Given the description of an element on the screen output the (x, y) to click on. 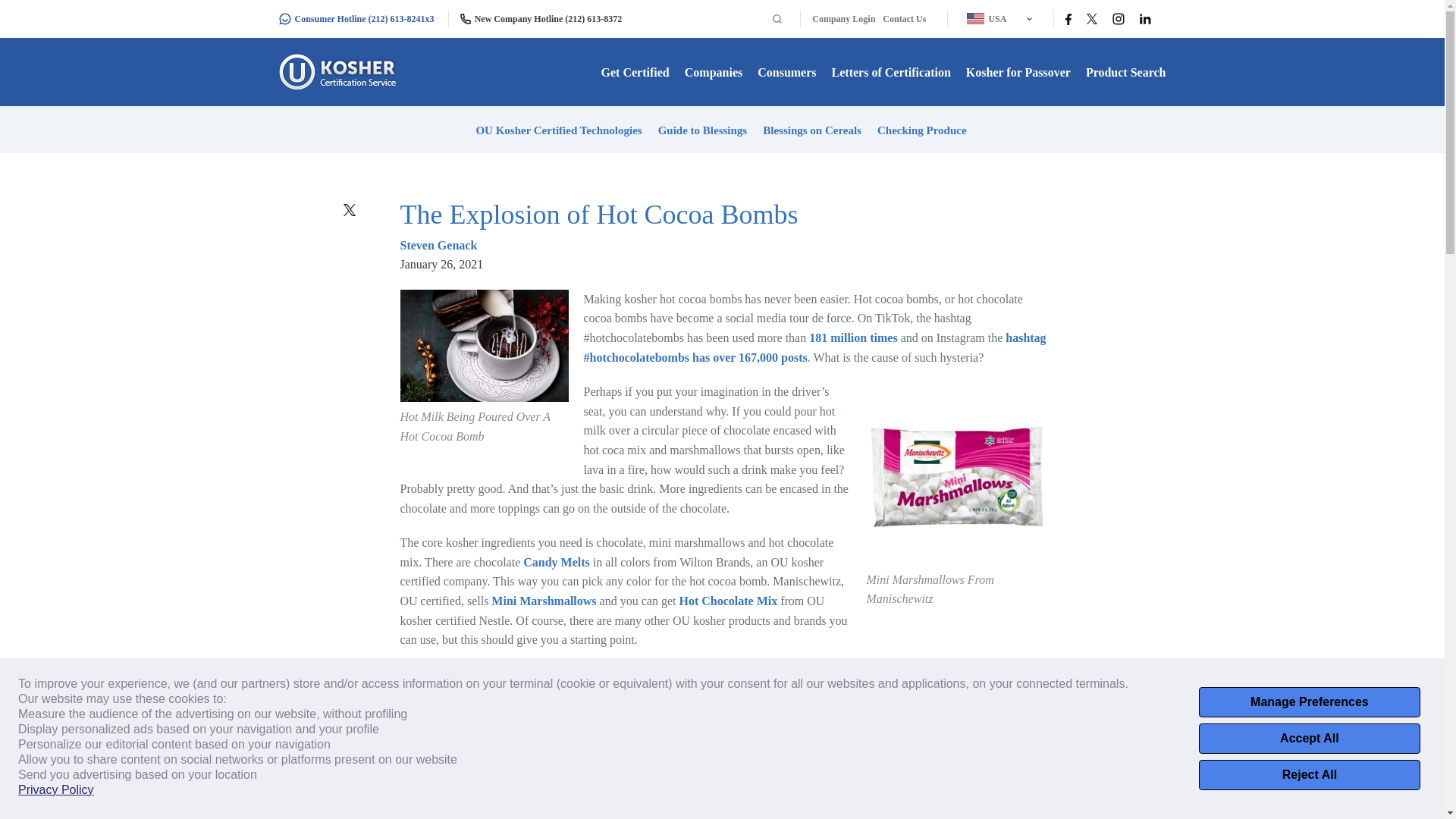
Manage Preferences (1309, 702)
OU Kosher Certification (339, 71)
Company Login (843, 19)
USA (994, 18)
Contact Us (904, 19)
Posts by Steven Genack (438, 245)
Accept All (1309, 738)
Get Certified (635, 72)
Reject All (1309, 775)
Privacy Policy (55, 789)
